Given the description of an element on the screen output the (x, y) to click on. 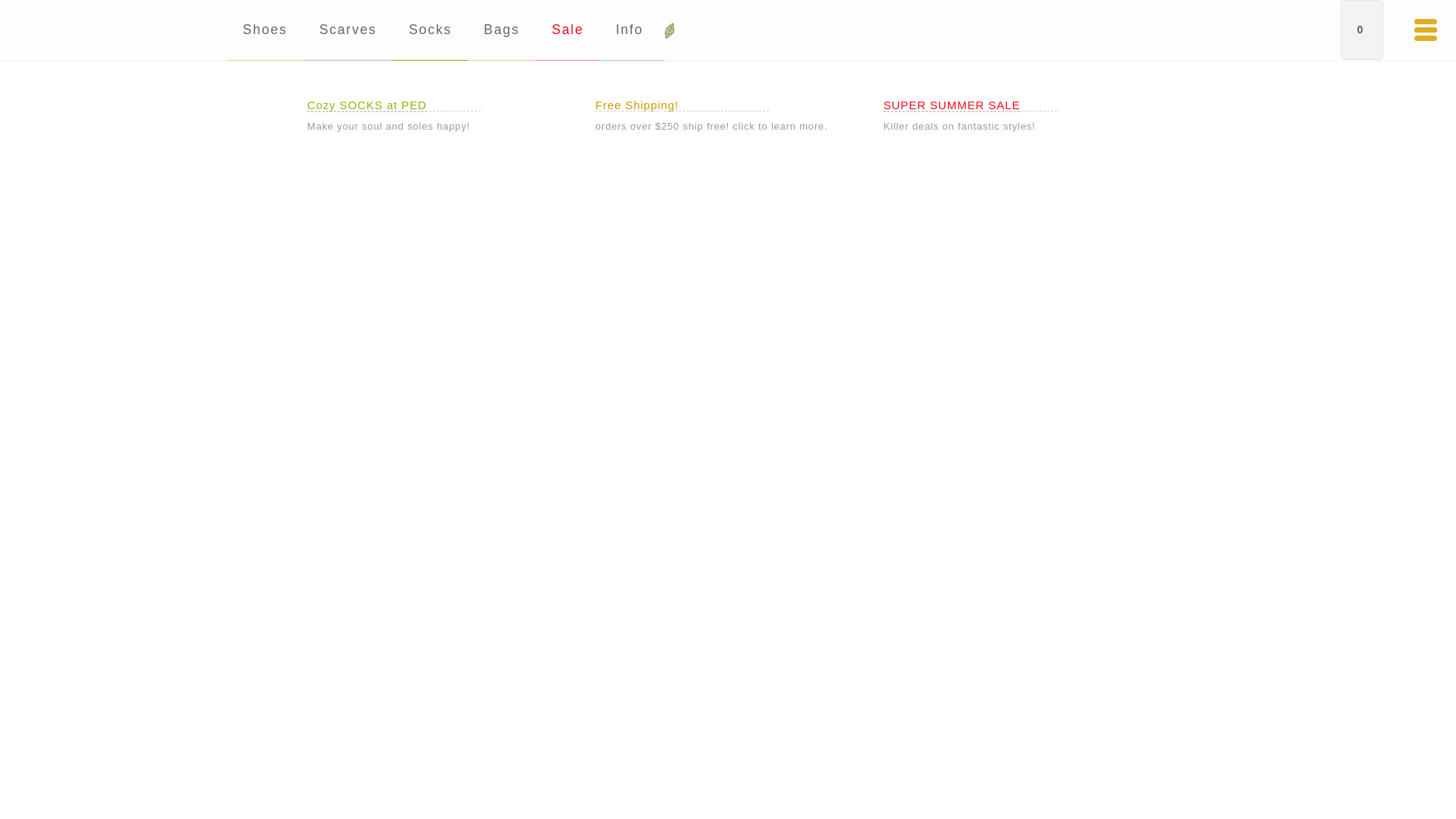
Socks (430, 30)
Bags (501, 30)
Sale (566, 30)
Scarves (347, 30)
Info  (631, 30)
Shoes (264, 30)
